Given the description of an element on the screen output the (x, y) to click on. 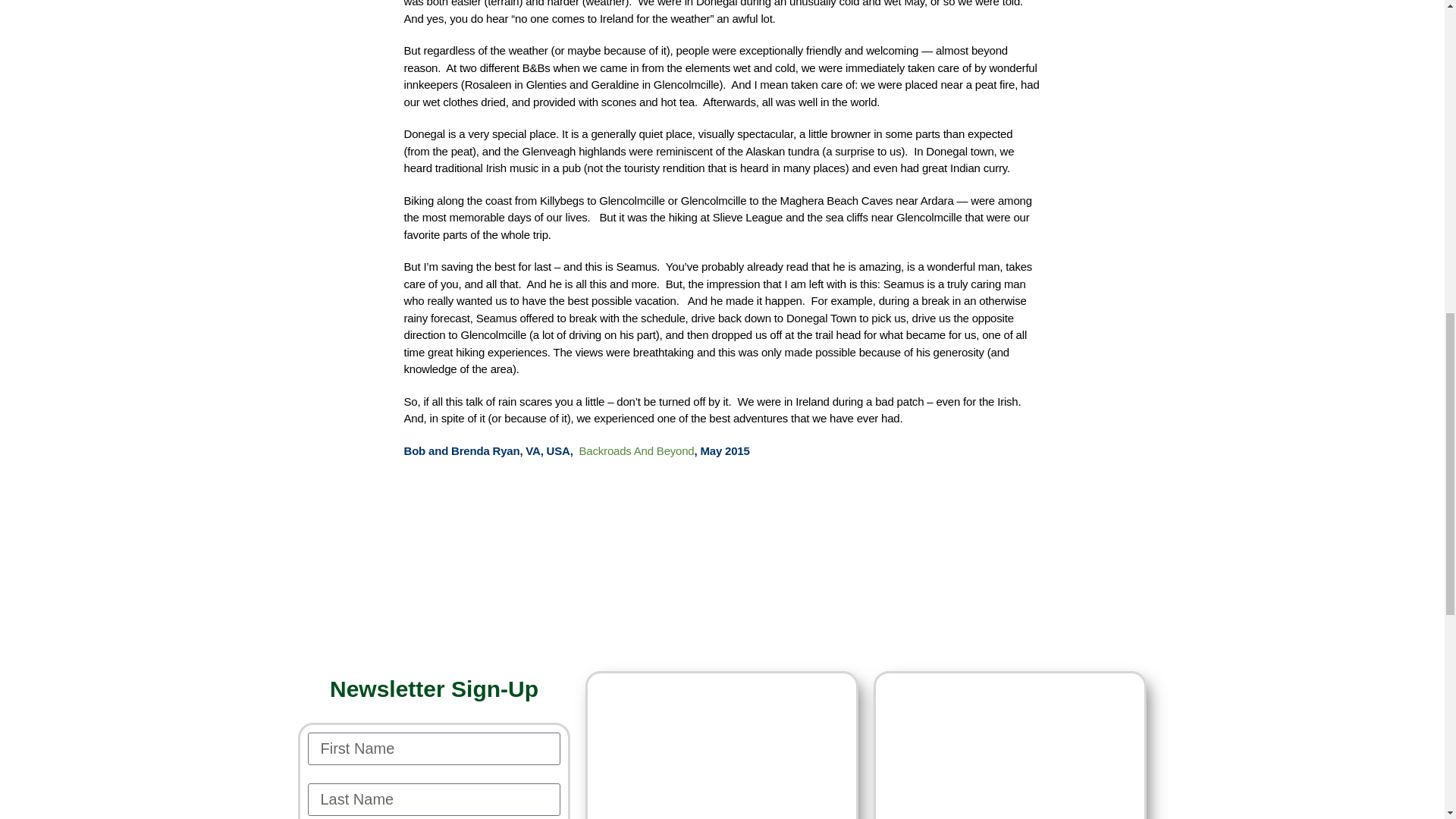
Backroads And Beyond (635, 450)
